Given the description of an element on the screen output the (x, y) to click on. 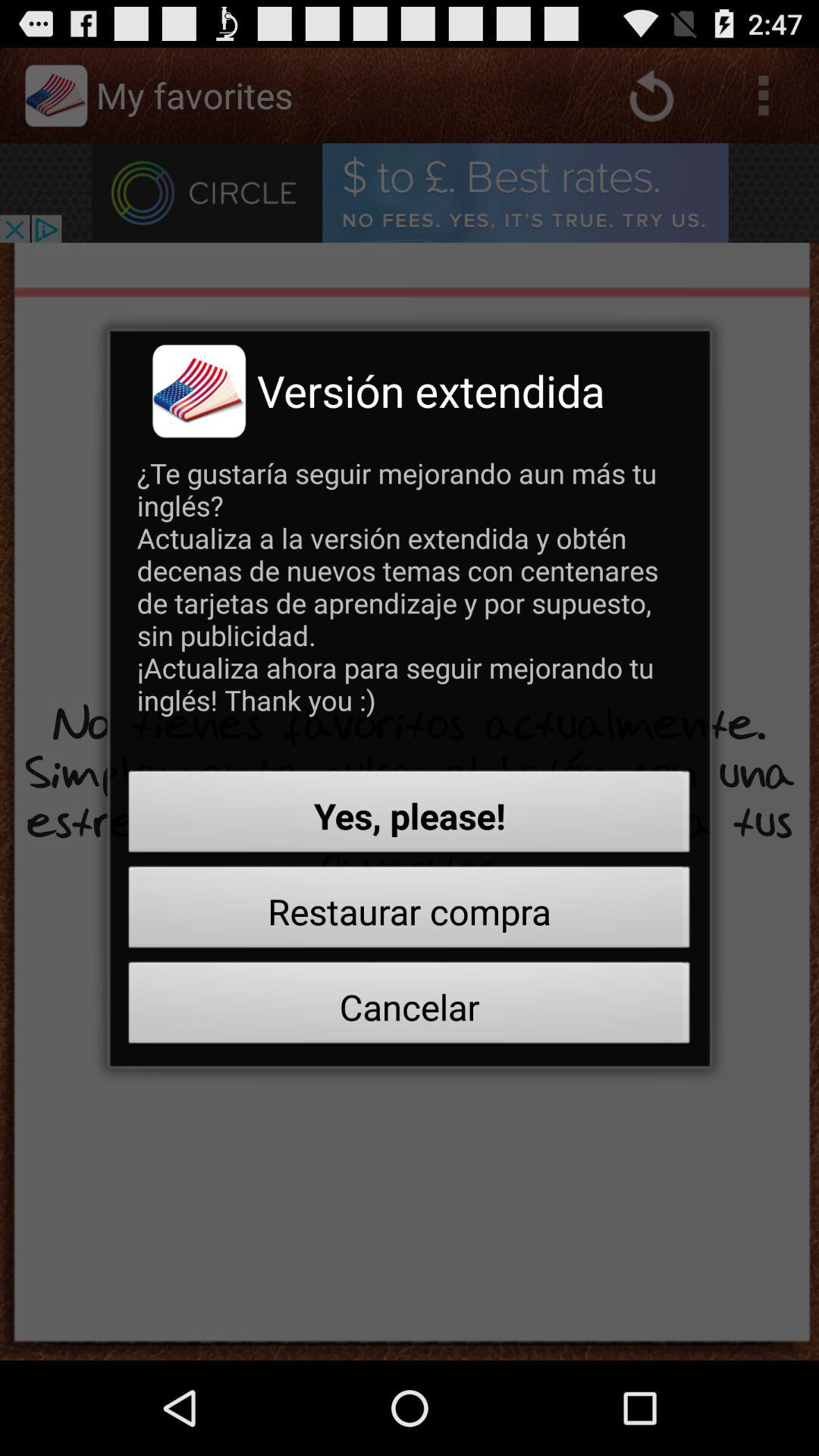
press the yes, please! icon (409, 815)
